Given the description of an element on the screen output the (x, y) to click on. 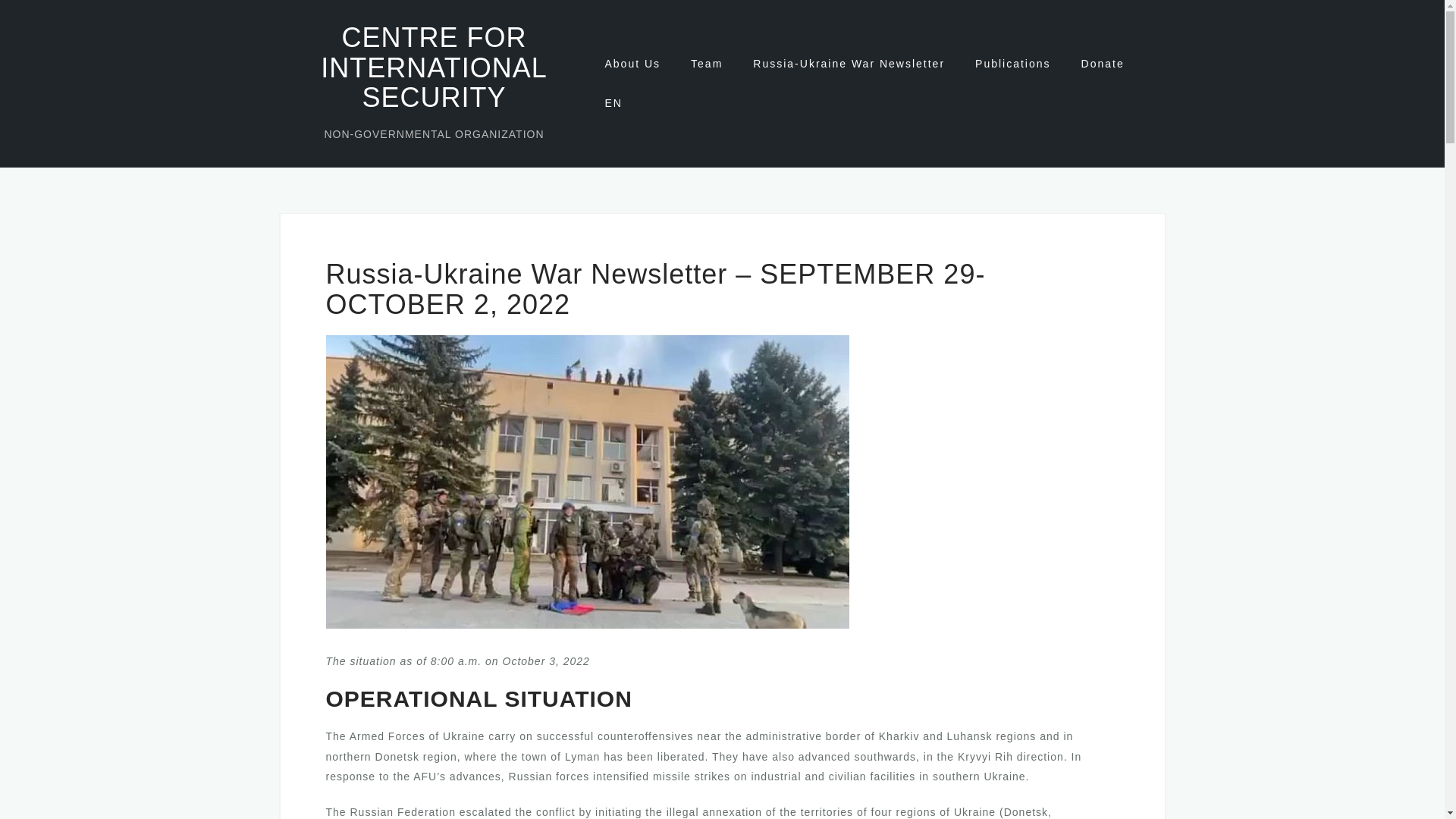
Publications (1013, 63)
CENTRE FOR INTERNATIONAL SECURITY (433, 67)
Russia-Ukraine War Newsletter (848, 63)
Team (706, 63)
About Us (632, 63)
Donate (1102, 63)
